Given the description of an element on the screen output the (x, y) to click on. 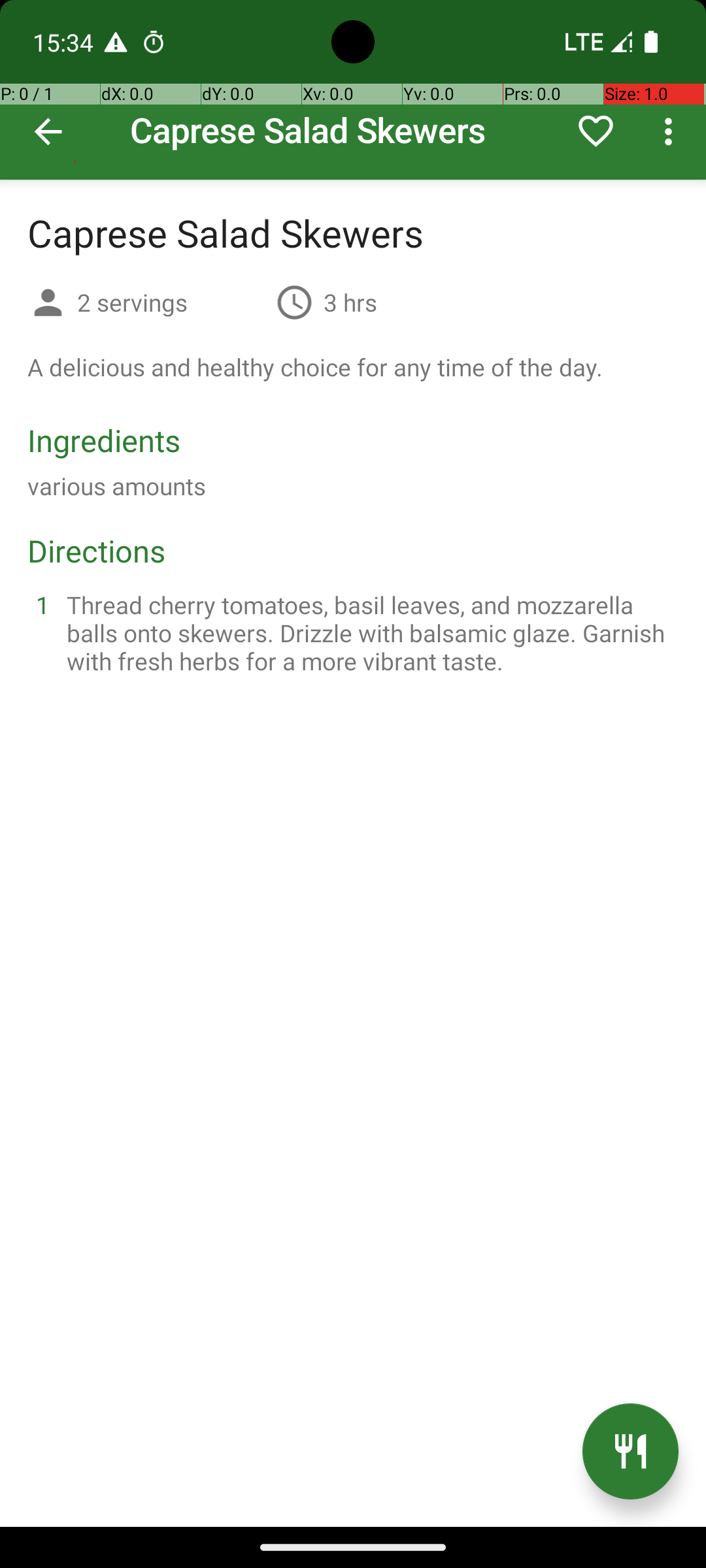
2 servings Element type: android.widget.TextView (170, 301)
3 hrs Element type: android.widget.TextView (350, 301)
various amounts Element type: android.widget.TextView (116, 485)
Thread cherry tomatoes, basil leaves, and mozzarella balls onto skewers. Drizzle with balsamic glaze. Garnish with fresh herbs for a more vibrant taste. Element type: android.widget.TextView (368, 632)
